Given the description of an element on the screen output the (x, y) to click on. 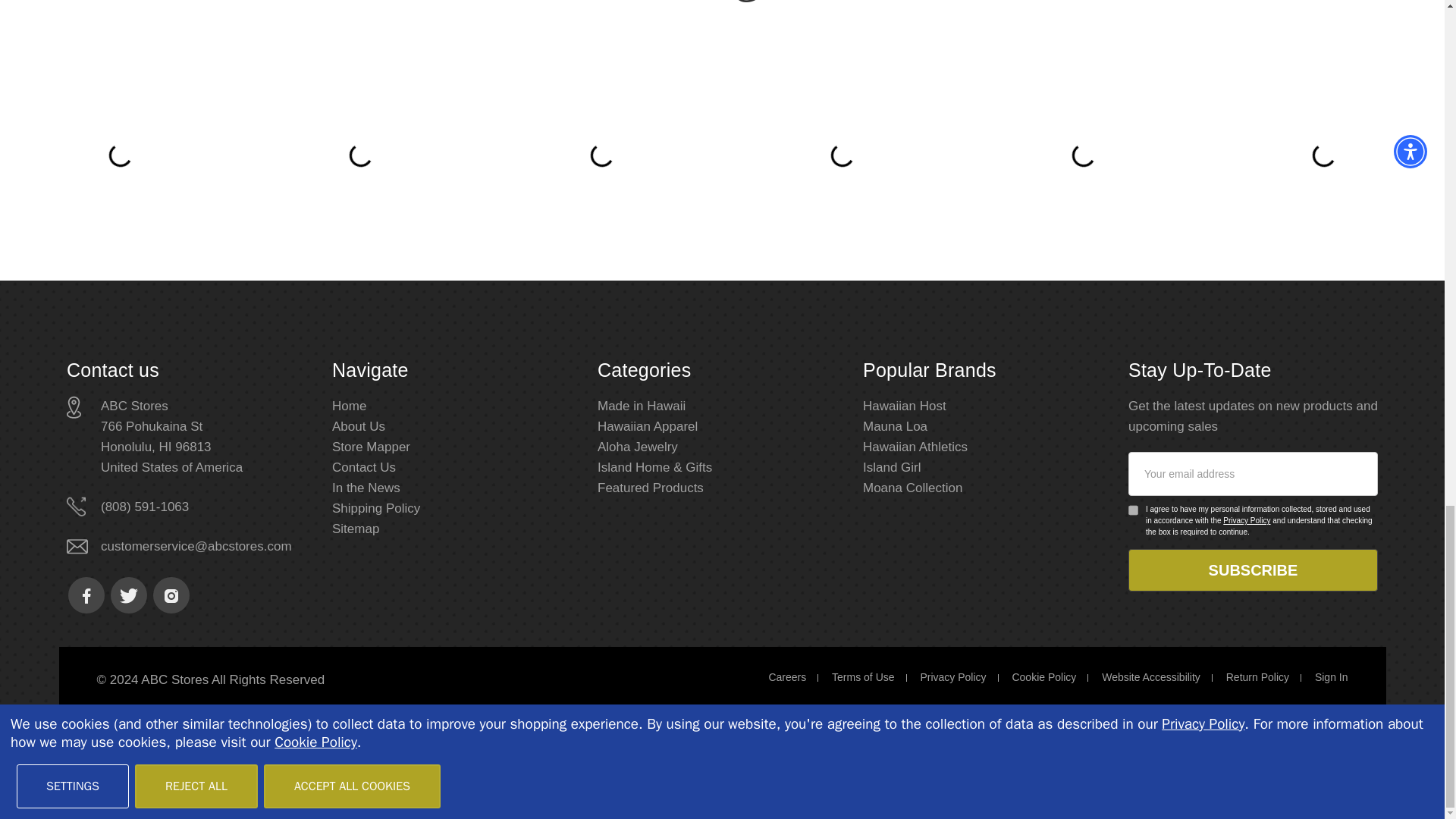
empty-link (370, 446)
Subscribe (1252, 569)
